Given the description of an element on the screen output the (x, y) to click on. 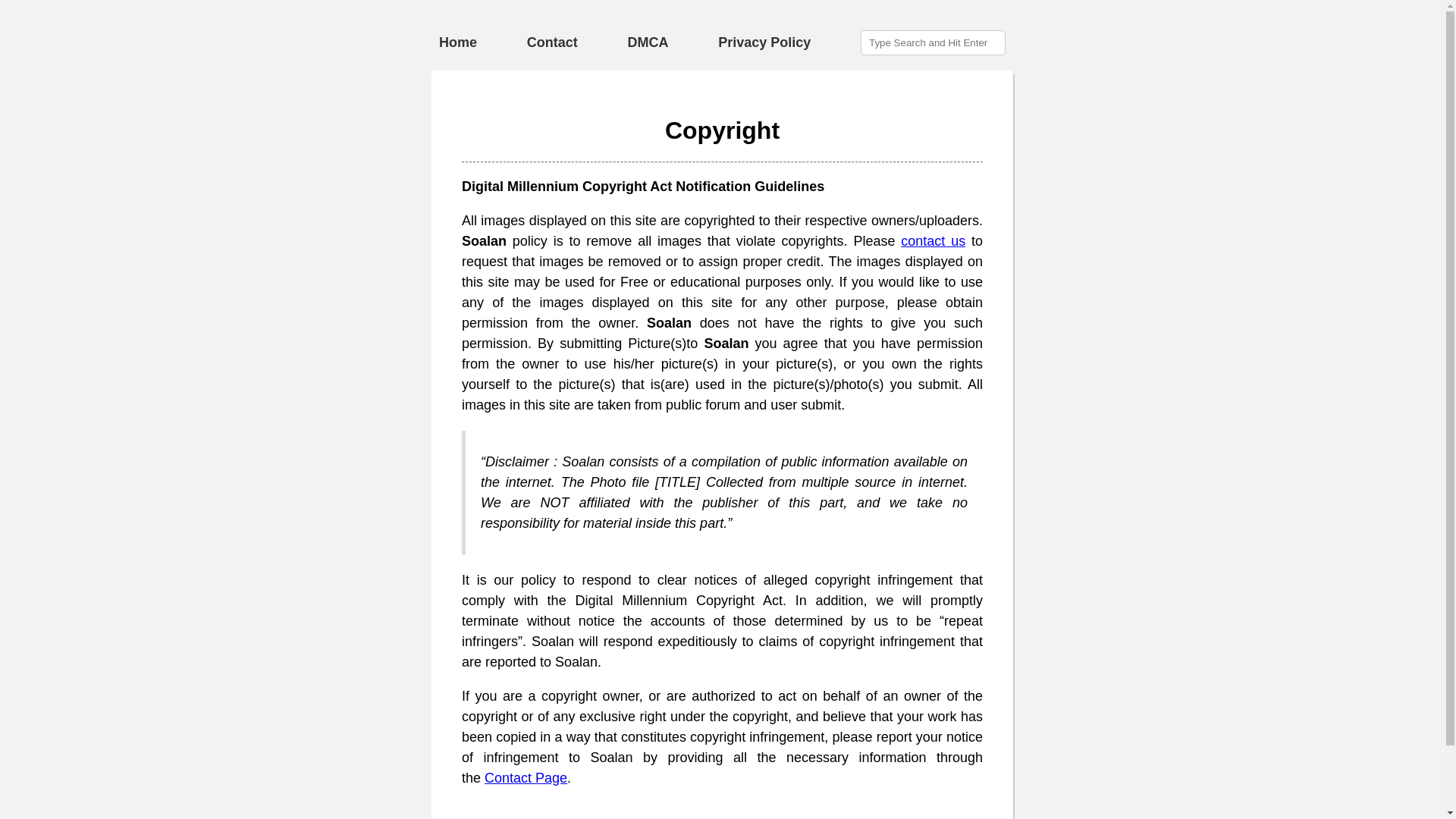
Privacy Policy Element type: text (764, 42)
DMCA Element type: text (647, 42)
Contact Page Element type: text (525, 777)
contact us Element type: text (932, 240)
Home Element type: text (457, 42)
Contact Element type: text (552, 42)
